Given the description of an element on the screen output the (x, y) to click on. 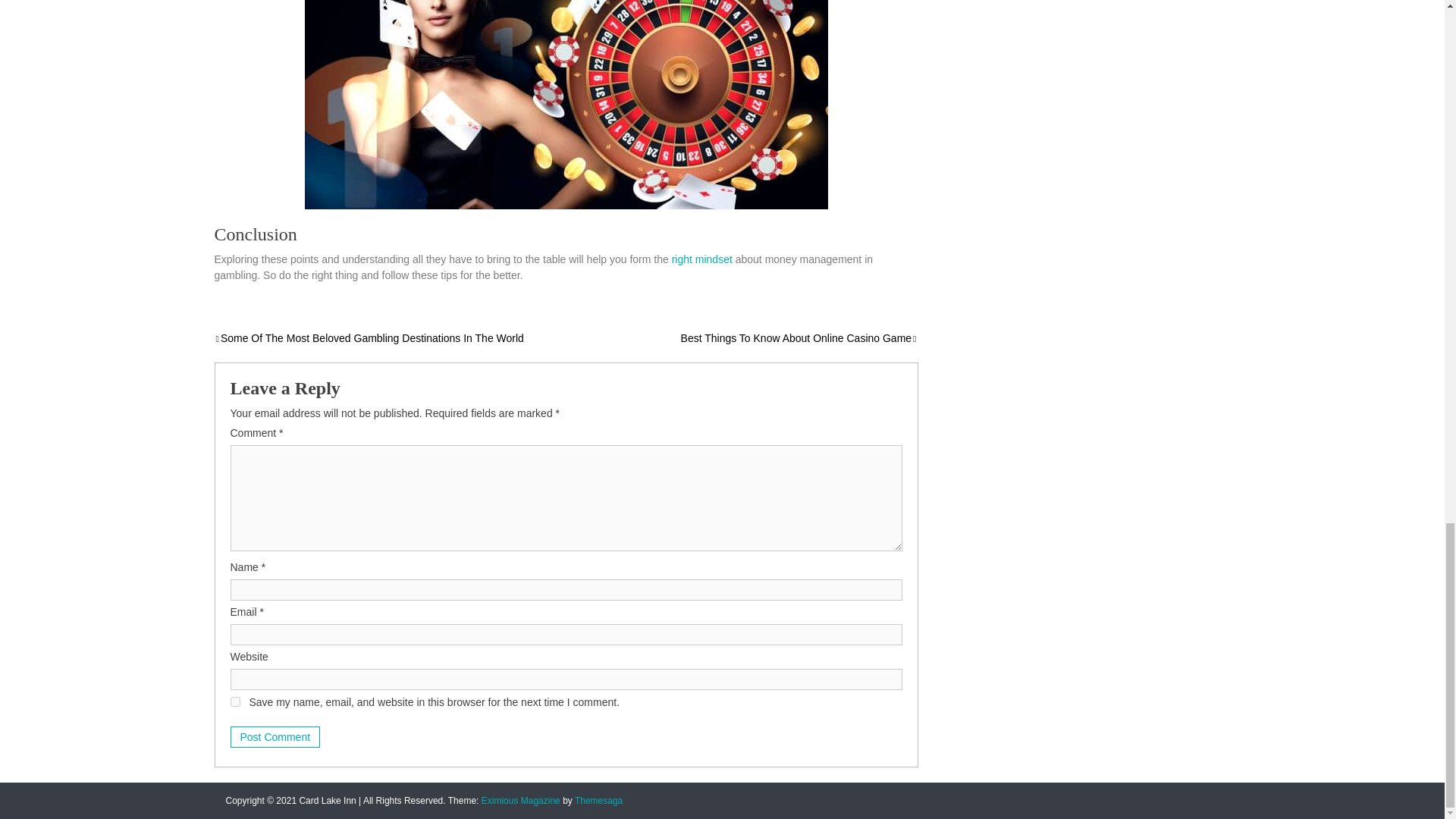
right mindset (701, 259)
Themesaga (599, 800)
Eximious Magazine (520, 800)
Post Comment (275, 736)
Best Things To Know About Online Casino Game (799, 337)
yes (235, 701)
Some Of The Most Beloved Gambling Destinations In The World (368, 337)
Post Comment (275, 736)
